Given the description of an element on the screen output the (x, y) to click on. 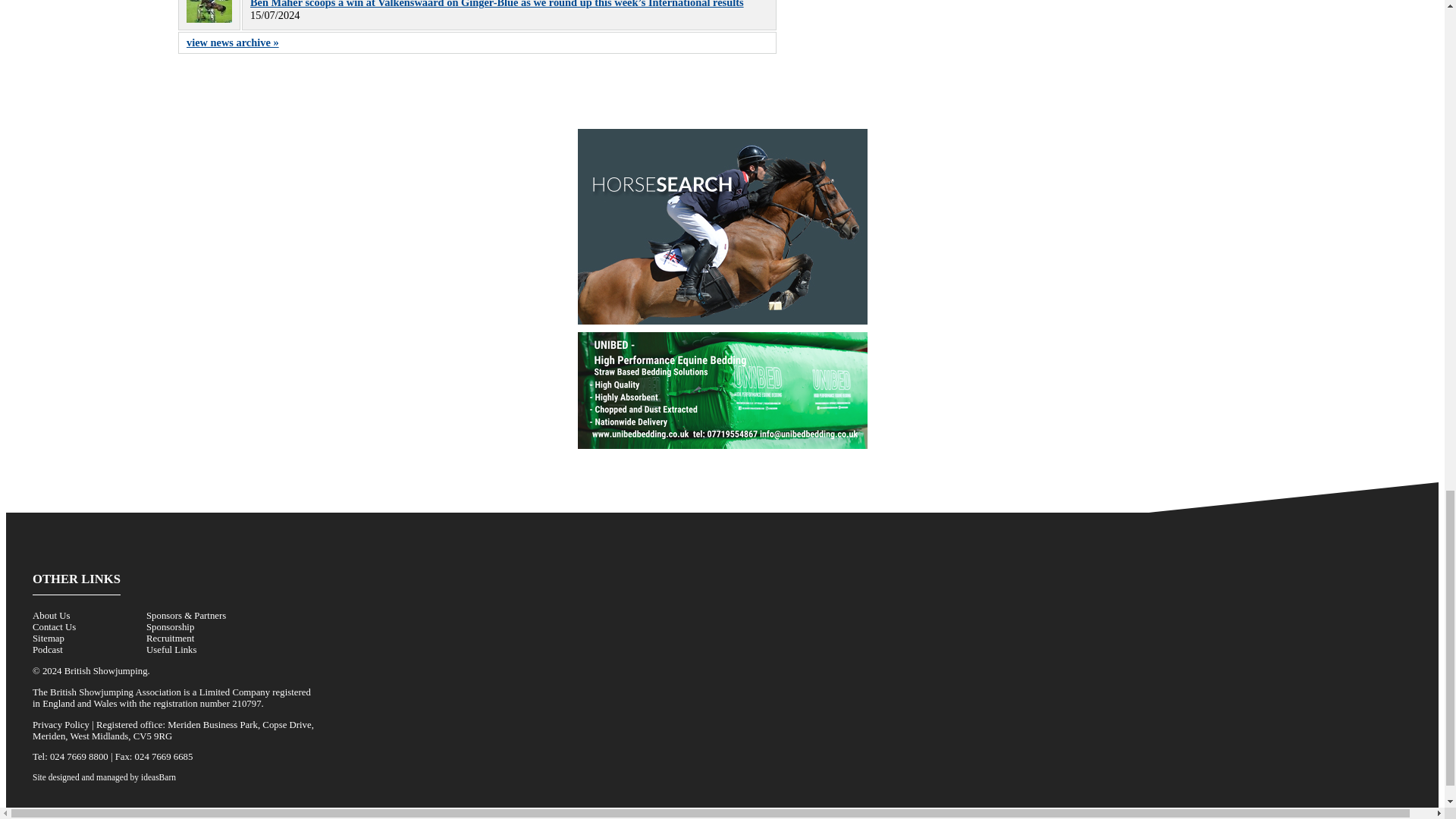
UNIBED - High Performance Equine Bedding, May 2023 (722, 390)
